Given the description of an element on the screen output the (x, y) to click on. 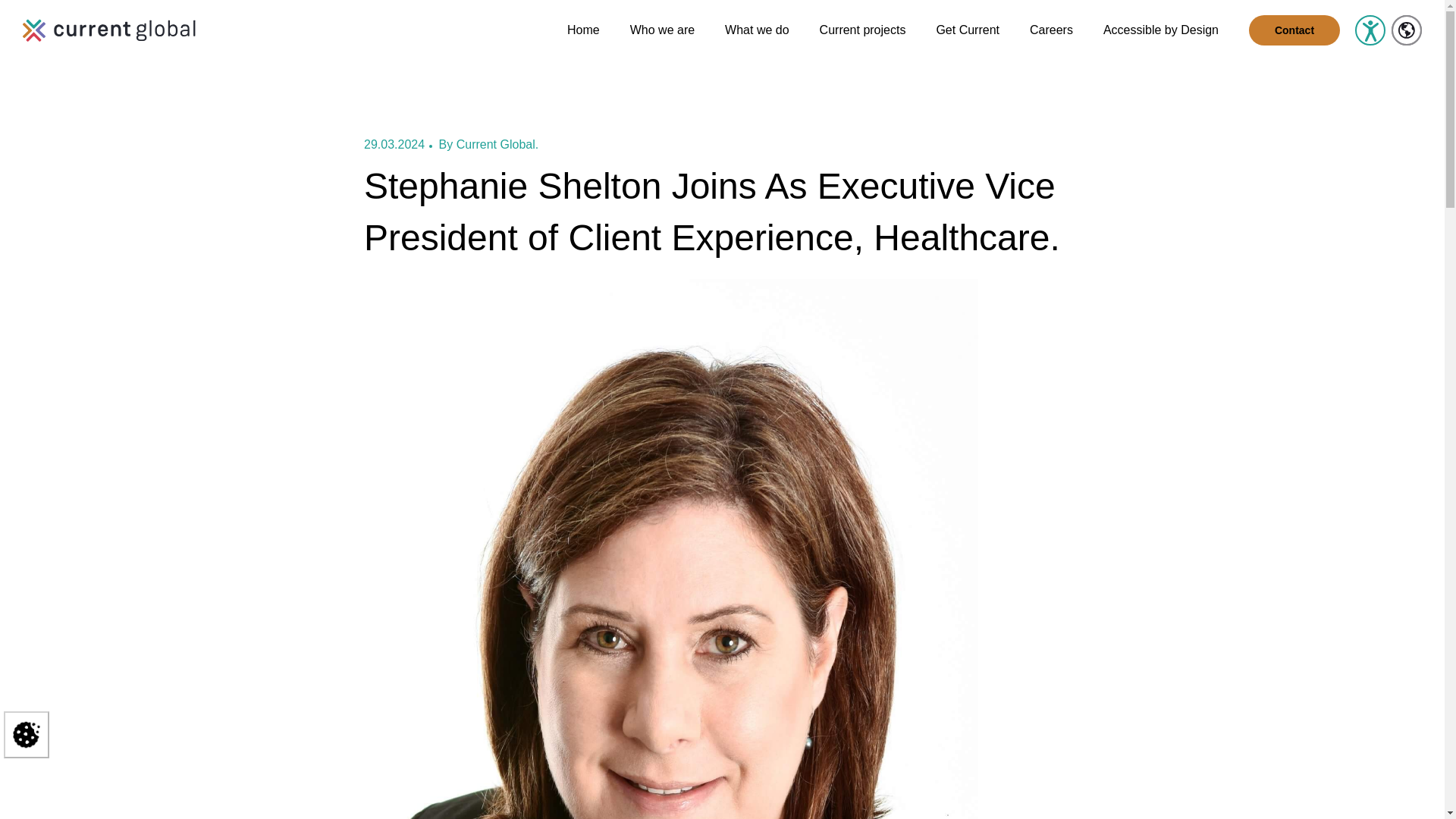
Home (583, 40)
Contact (1294, 30)
Skip to main content (67, 41)
Who we are (662, 40)
Accessible by Design (1160, 40)
Careers (1051, 40)
What we do (757, 40)
Current projects (862, 40)
Get Current (967, 40)
